Given the description of an element on the screen output the (x, y) to click on. 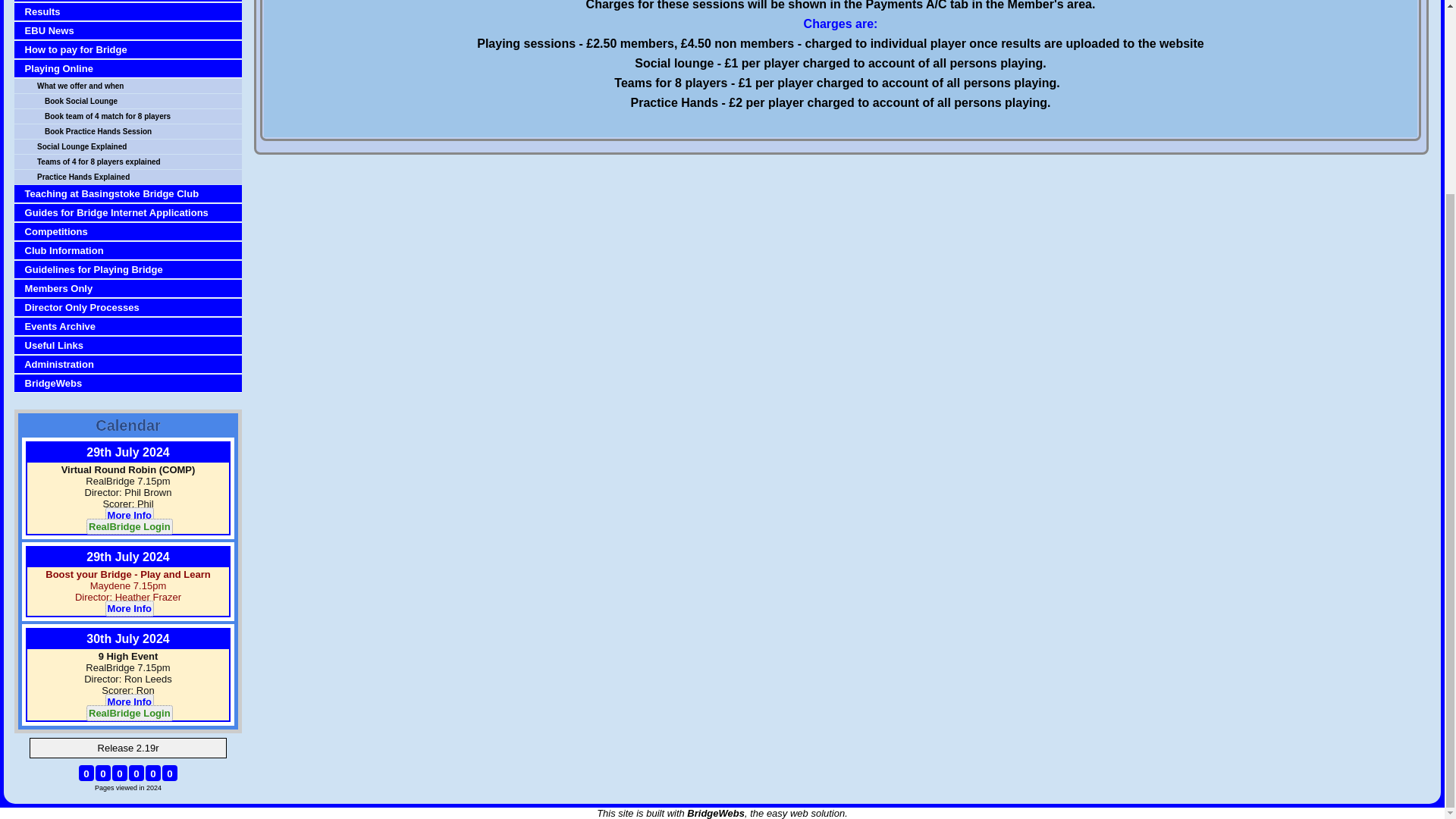
 Events Archive (129, 326)
Practice Hands Explained (137, 176)
 More Info (128, 608)
 Results (129, 11)
Book Social Lounge (141, 101)
 EBU News (129, 30)
RealBridge Login (129, 713)
 More Info (128, 701)
 Guides for Bridge Internet Applications (129, 212)
What we offer and when (137, 85)
 Members Only (129, 288)
 Director Only Processes (129, 307)
Book Practice Hands Session (141, 131)
RealBridge Login (129, 526)
 Competitions (129, 231)
